Given the description of an element on the screen output the (x, y) to click on. 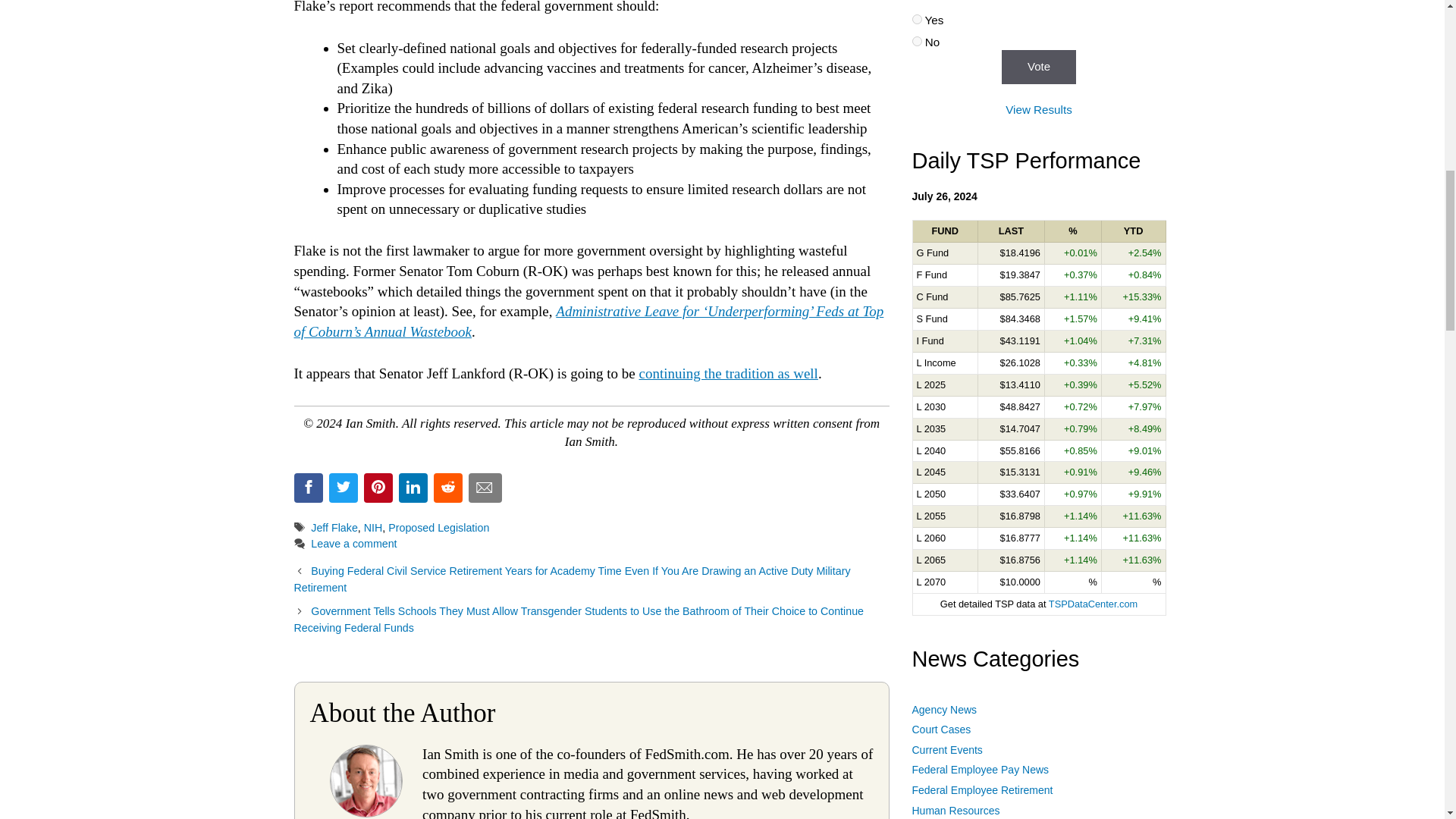
   Vote    (1038, 66)
NIH (373, 527)
View all articles from Ian Smith (366, 811)
View Results Of This Poll (1038, 109)
Scroll back to top (1406, 659)
2329 (916, 19)
Leave a comment (353, 543)
continuing the tradition as well (727, 373)
Proposed Legislation (438, 527)
Jeff Flake (334, 527)
2330 (916, 40)
